Given the description of an element on the screen output the (x, y) to click on. 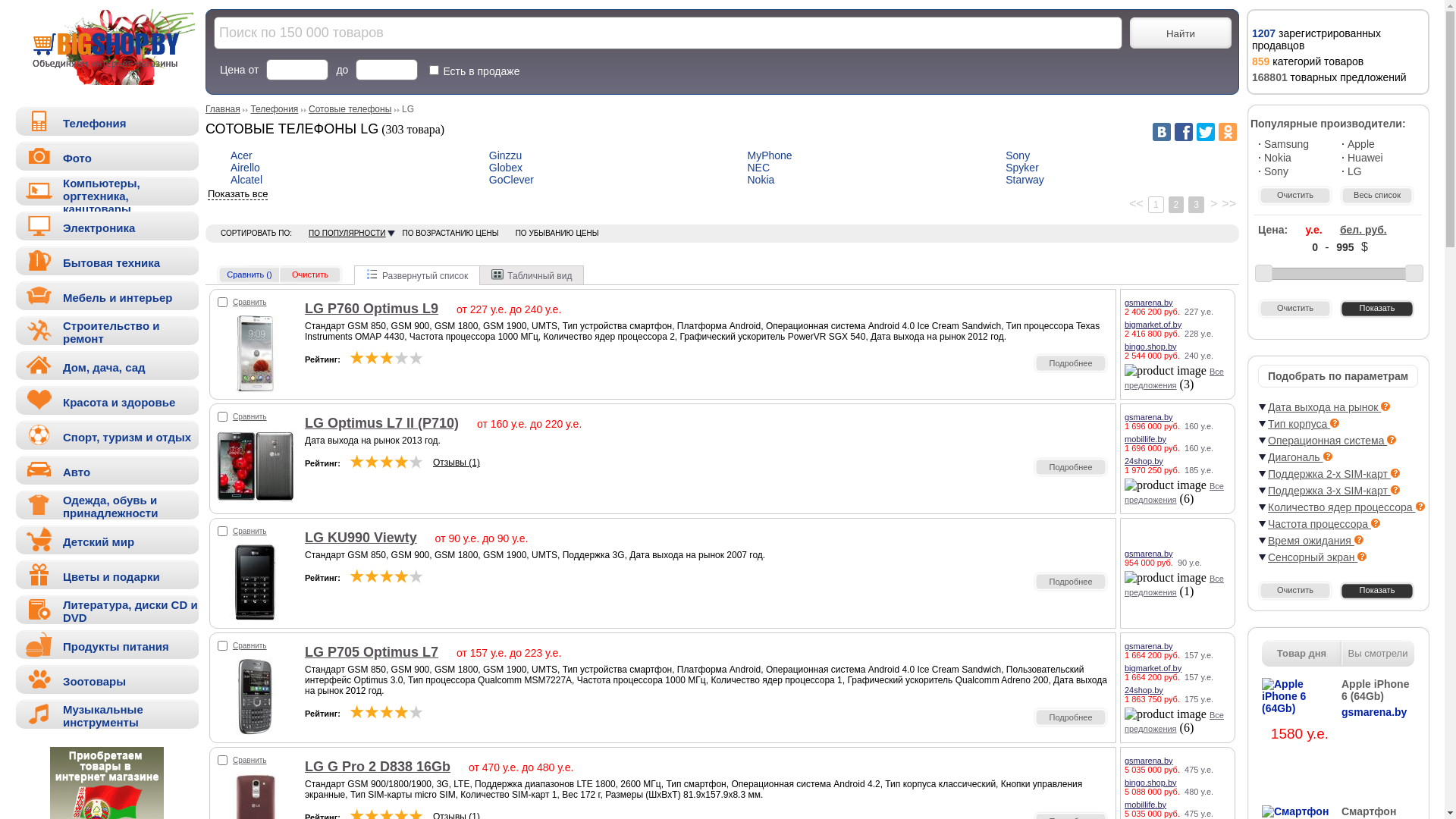
LG Optimus L7 II (P710) Element type: text (381, 422)
LG KU990 Viewty Element type: text (360, 537)
gsmarena.by Element type: text (1148, 301)
mobillife.by Element type: text (1145, 803)
NEC Element type: text (758, 167)
bigmarket.of.by Element type: text (1152, 666)
bigmarket.of.by Element type: text (1152, 324)
Apple Element type: text (1379, 144)
3 Element type: text (1196, 204)
3783 Element type: text (222, 531)
LG P705 Optimus L7 Element type: hover (255, 730)
LG P760 Optimus L9 Element type: hover (255, 386)
Apple iPhone 6 (64Gb) Element type: hover (1299, 695)
Spyker Element type: text (1021, 167)
40081 Element type: text (222, 302)
LG Optimus L7 II (P710) Element type: hover (255, 501)
gsmarena.by Element type: text (1148, 645)
> Element type: text (1213, 203)
105262 Element type: text (222, 416)
gsmarena.by Element type: text (1148, 416)
>> Element type: text (1228, 203)
LG Element type: text (1379, 171)
gsmarena.by Element type: text (1148, 553)
118356 Element type: text (222, 760)
gsmarena.by Element type: text (1377, 712)
Samsung Element type: text (1295, 144)
Nokia Element type: text (1295, 157)
Acer Element type: text (241, 155)
MyPhone Element type: text (769, 155)
40078 Element type: text (222, 645)
Alcatel Element type: text (246, 179)
LG P760 Optimus L9 Element type: text (371, 308)
Sony Element type: text (1295, 171)
Twitter Element type: hover (1205, 131)
24shop.by Element type: text (1143, 460)
mobillife.by Element type: text (1145, 437)
Ginzzu Element type: text (505, 155)
Airello Element type: text (245, 167)
Sony Element type: text (1017, 155)
1 Element type: text (1156, 204)
LG P705 Optimus L7 Element type: text (371, 651)
Globex Element type: text (505, 167)
Nokia Element type: text (761, 179)
LG G Pro 2 D838 16Gb Element type: text (377, 766)
Facebook Element type: hover (1183, 131)
GoClever Element type: text (511, 179)
bingo.shop.by Element type: text (1150, 782)
bingo.shop.by Element type: text (1150, 345)
24shop.by Element type: text (1143, 689)
2 Element type: text (1176, 204)
Apple iPhone 6 (64Gb) Element type: text (1377, 689)
gsmarena.by Element type: text (1148, 759)
<< Element type: text (1136, 203)
LG KU990 Viewty Element type: hover (255, 615)
Huawei Element type: text (1379, 157)
Starway Element type: text (1024, 179)
